Given the description of an element on the screen output the (x, y) to click on. 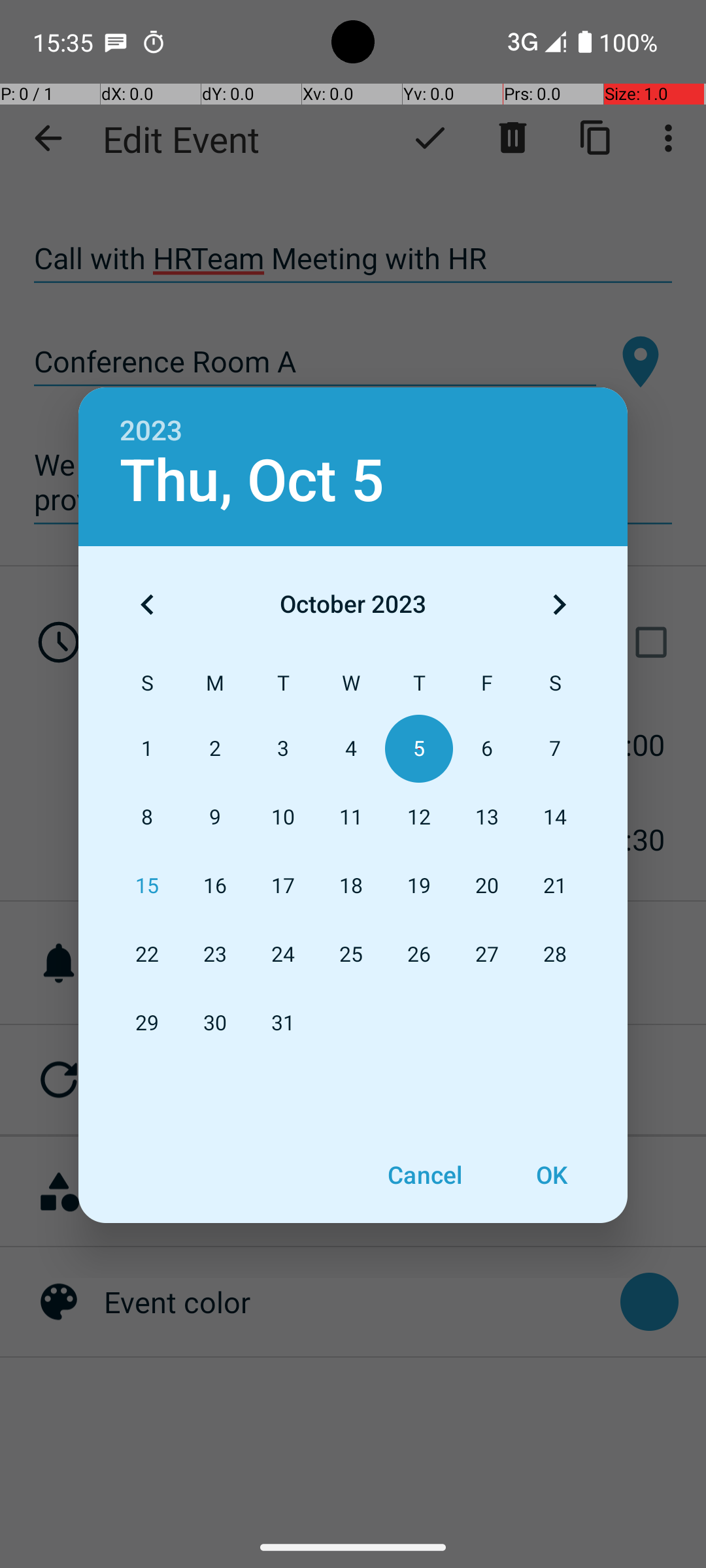
Thu, Oct 5 Element type: android.widget.TextView (251, 480)
